Given the description of an element on the screen output the (x, y) to click on. 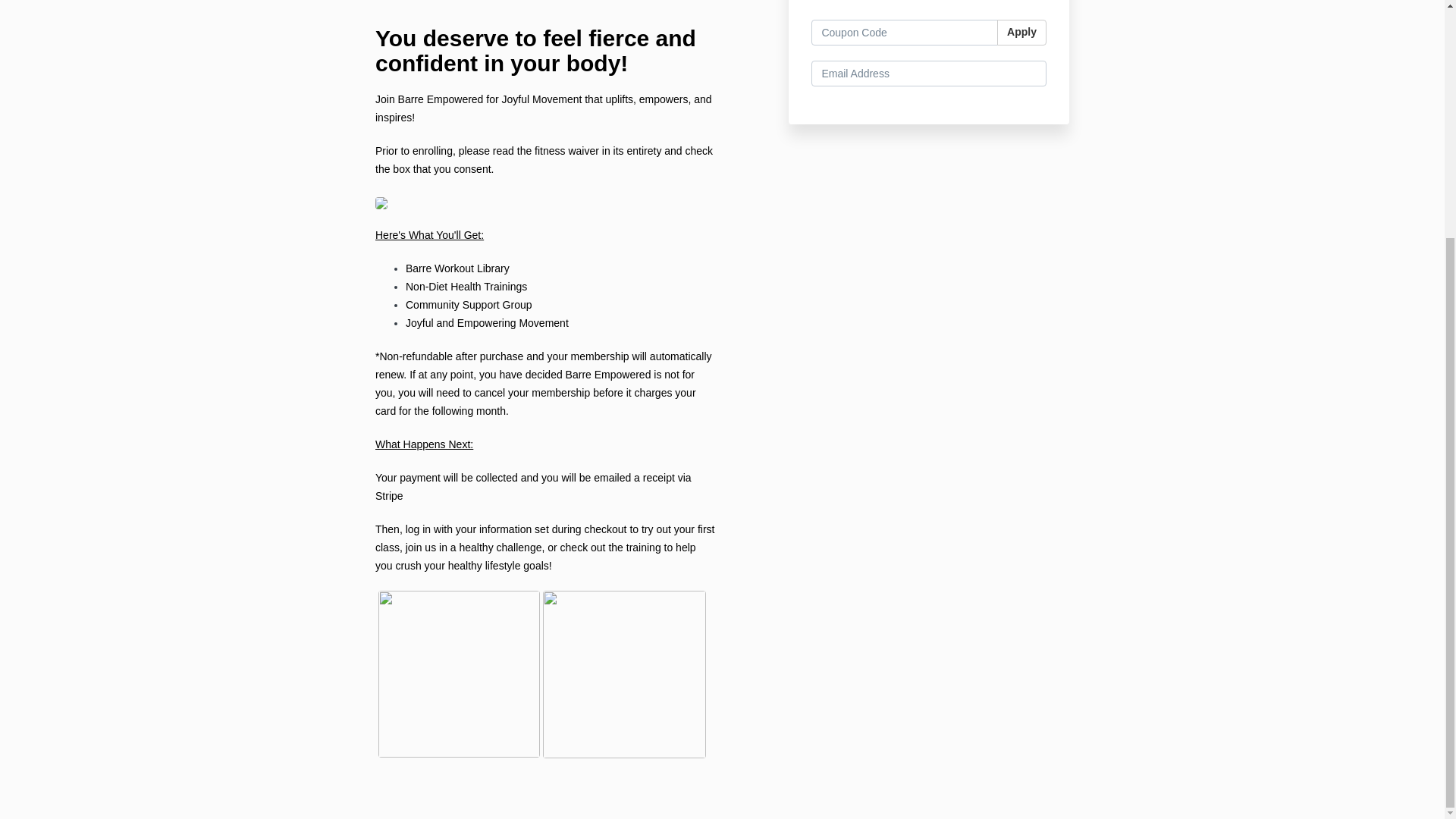
Apply (1021, 32)
